Given the description of an element on the screen output the (x, y) to click on. 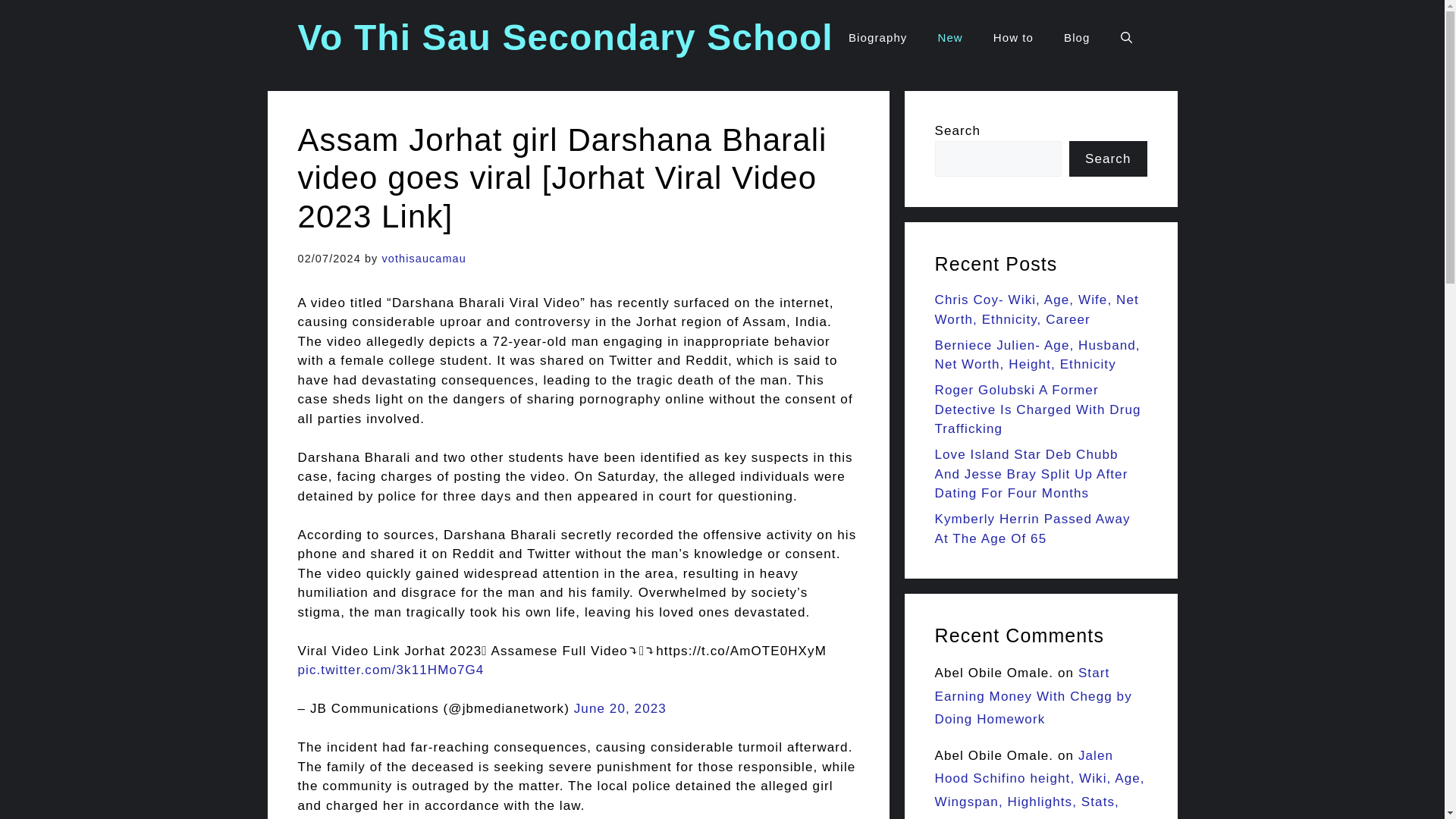
Kymberly Herrin Passed Away At The Age Of 65 (1031, 528)
Biography (876, 37)
Chris Coy- Wiki, Age, Wife, Net Worth, Ethnicity, Career (1036, 309)
How to (1013, 37)
Berniece Julien- Age, Husband, Net Worth, Height, Ethnicity (1037, 355)
Vo Thi Sau Secondary School (564, 37)
vothisaucamau (423, 258)
June 20, 2023 (619, 708)
Blog (1076, 37)
Search (1107, 158)
New (948, 37)
Start Earning Money With Chegg by Doing Homework (1032, 695)
View all posts by vothisaucamau (423, 258)
